Given the description of an element on the screen output the (x, y) to click on. 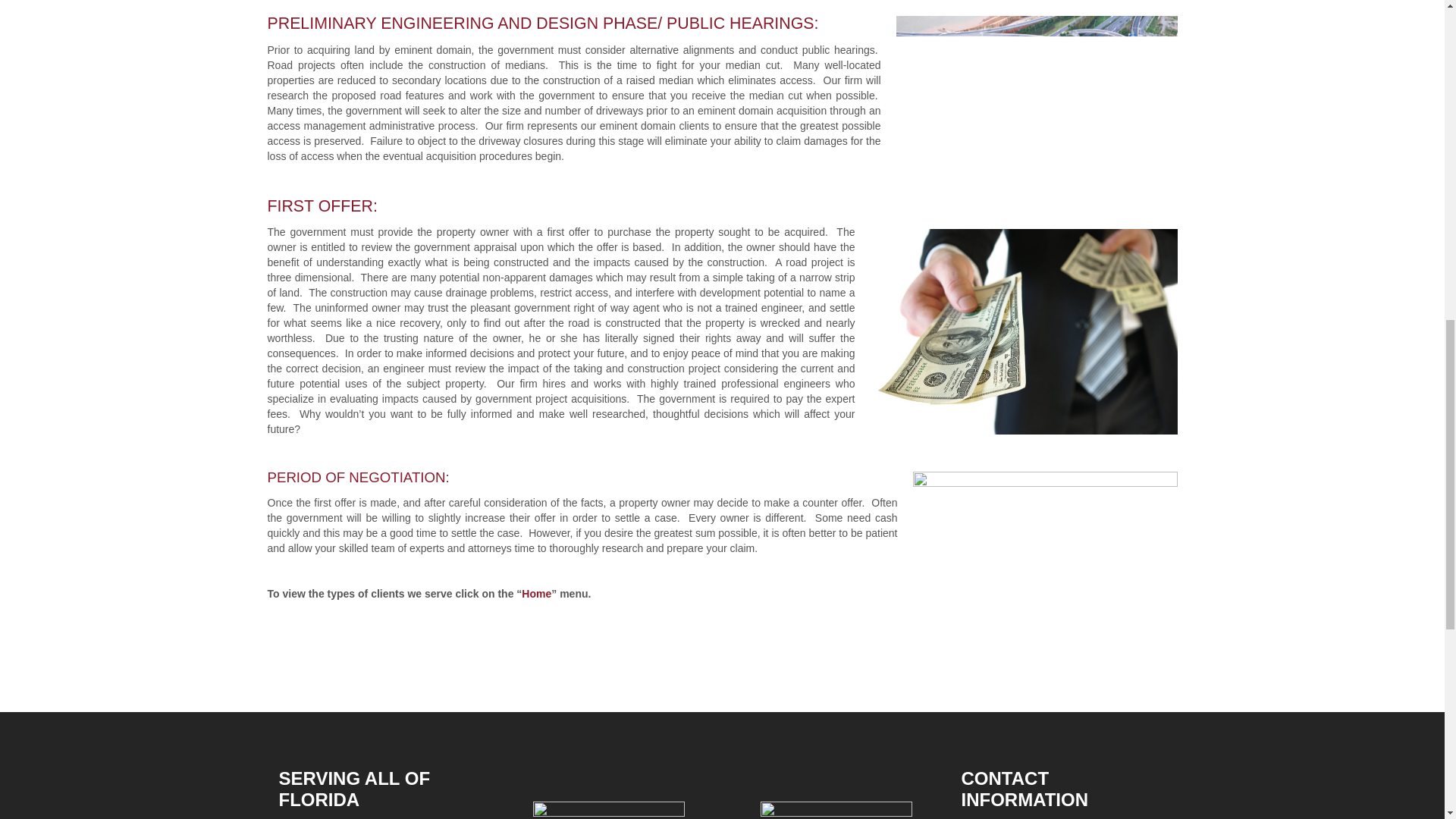
Home (536, 593)
